Given the description of an element on the screen output the (x, y) to click on. 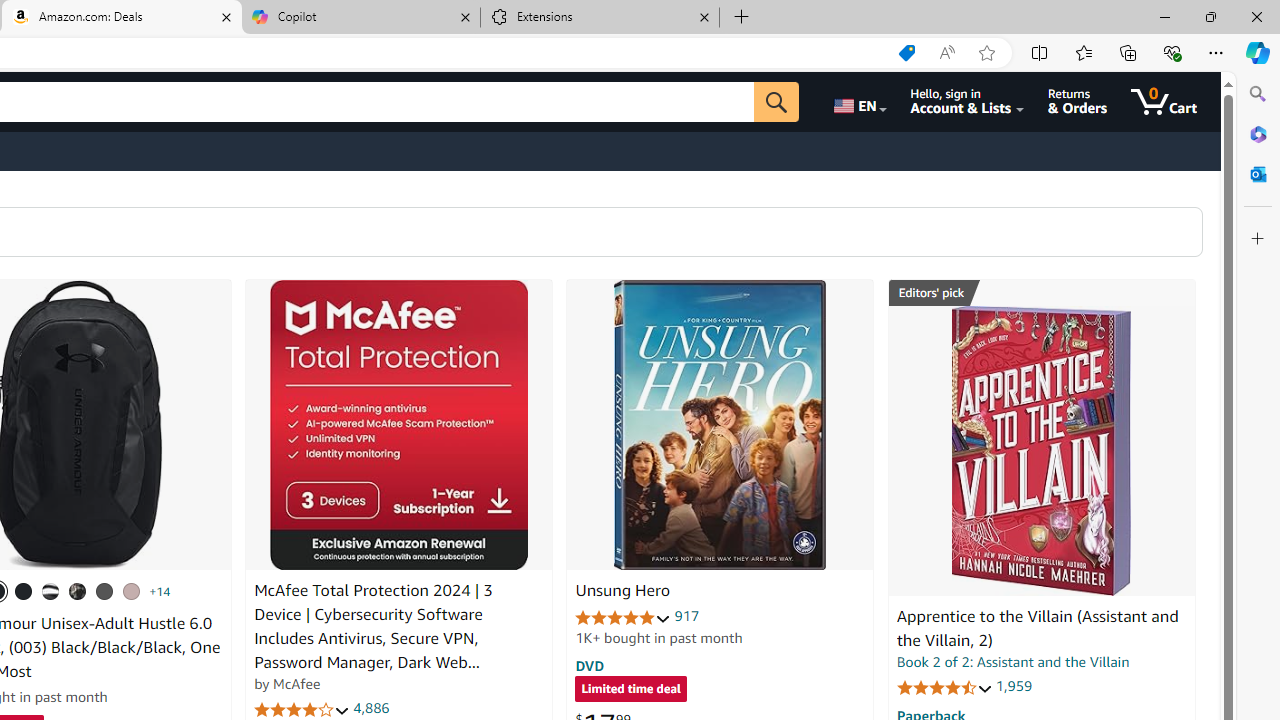
Choose a language for shopping. (858, 101)
(001) Black / Black / Metallic Gold (24, 591)
4,886 (371, 708)
4.9 out of 5 stars (623, 616)
Go (776, 101)
Hello, sign in Account & Lists (967, 101)
(004) Black / Black / Metallic Gold (78, 591)
Unsung Hero (720, 425)
DVD (589, 665)
1,959 (1013, 686)
